Given the description of an element on the screen output the (x, y) to click on. 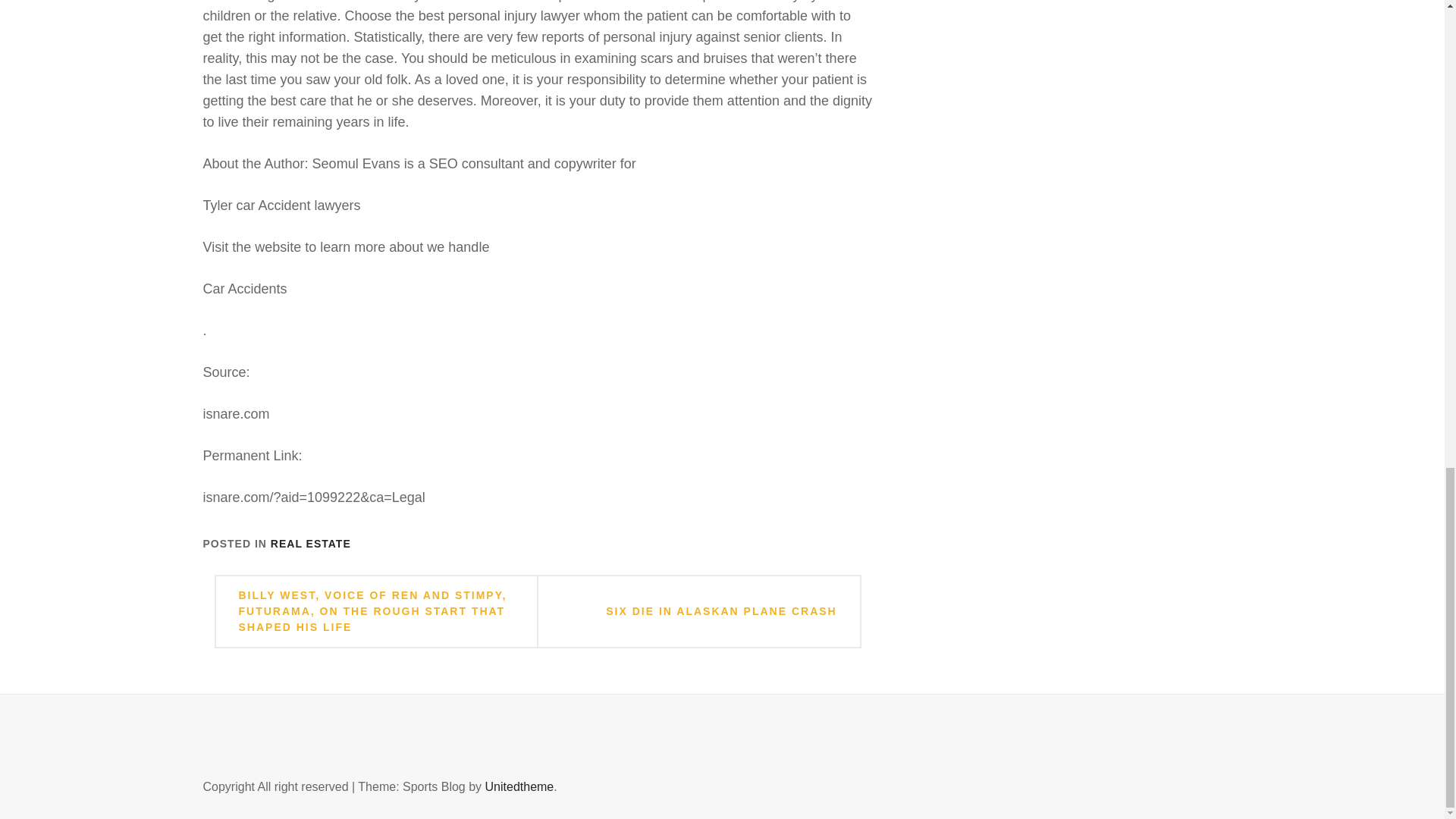
Unitedtheme (519, 786)
REAL ESTATE (310, 543)
SIX DIE IN ALASKAN PLANE CRASH (721, 611)
